Given the description of an element on the screen output the (x, y) to click on. 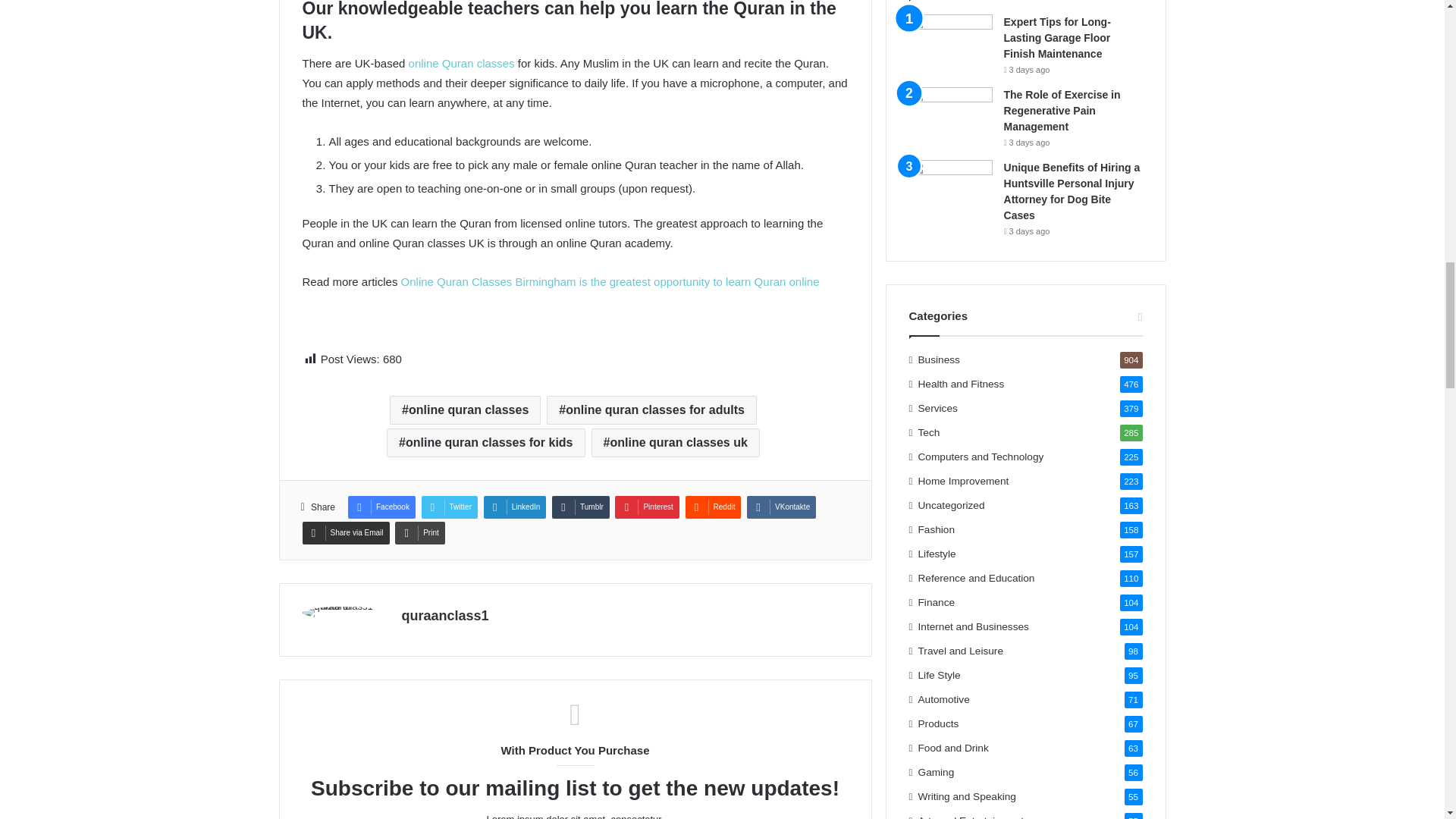
online quran classes for adults (652, 410)
online quran classes for kids (486, 442)
online quran classes uk (675, 442)
online Quran classes (462, 62)
online quran classes (465, 410)
